Given the description of an element on the screen output the (x, y) to click on. 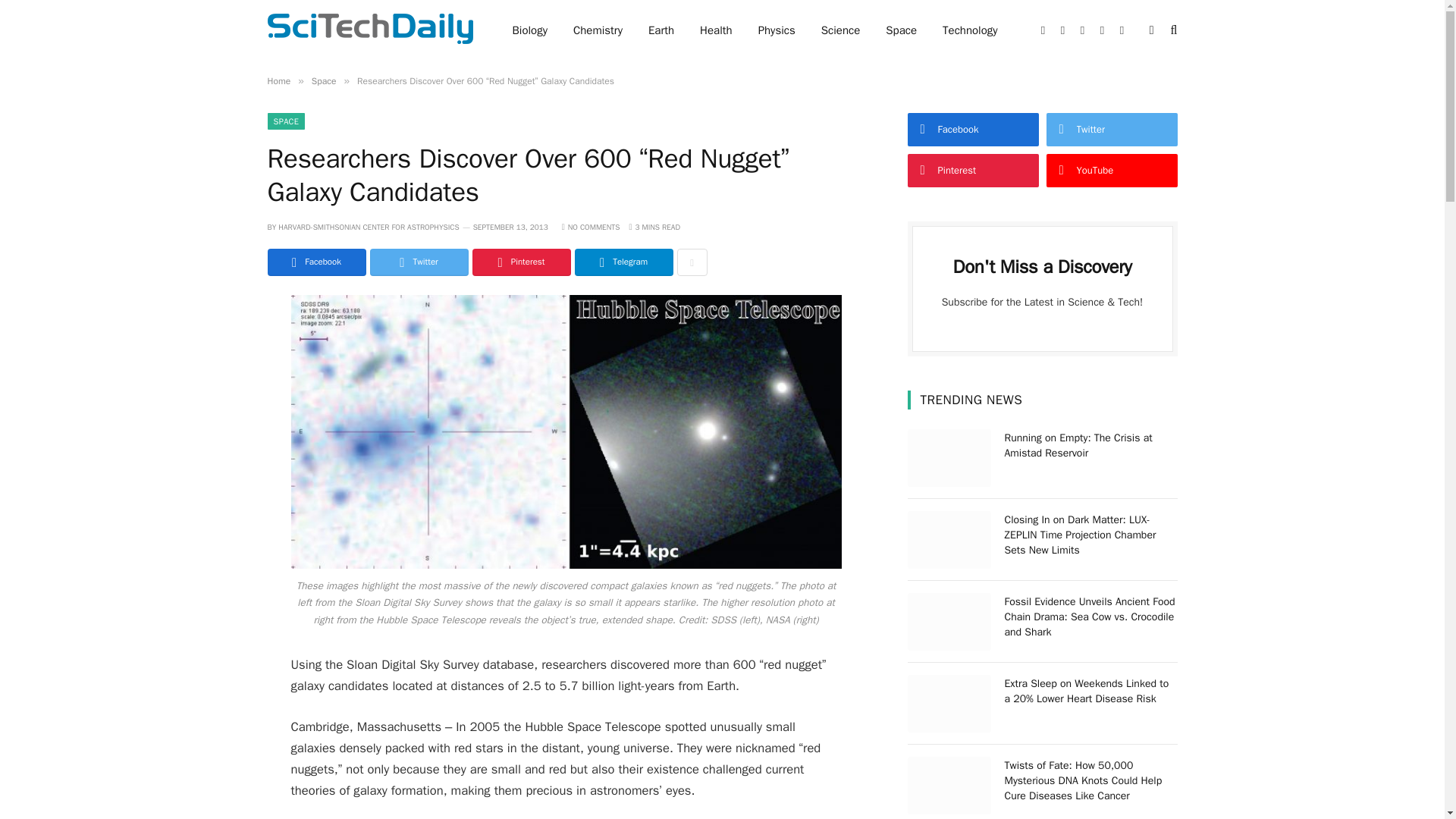
Switch to Dark Design - easier on eyes. (1151, 30)
SPACE (285, 121)
Health (716, 30)
Biology (529, 30)
NO COMMENTS (591, 226)
SciTechDaily (368, 30)
Twitter (418, 262)
Technology (970, 30)
Science (840, 30)
Share on Facebook (315, 262)
